Given the description of an element on the screen output the (x, y) to click on. 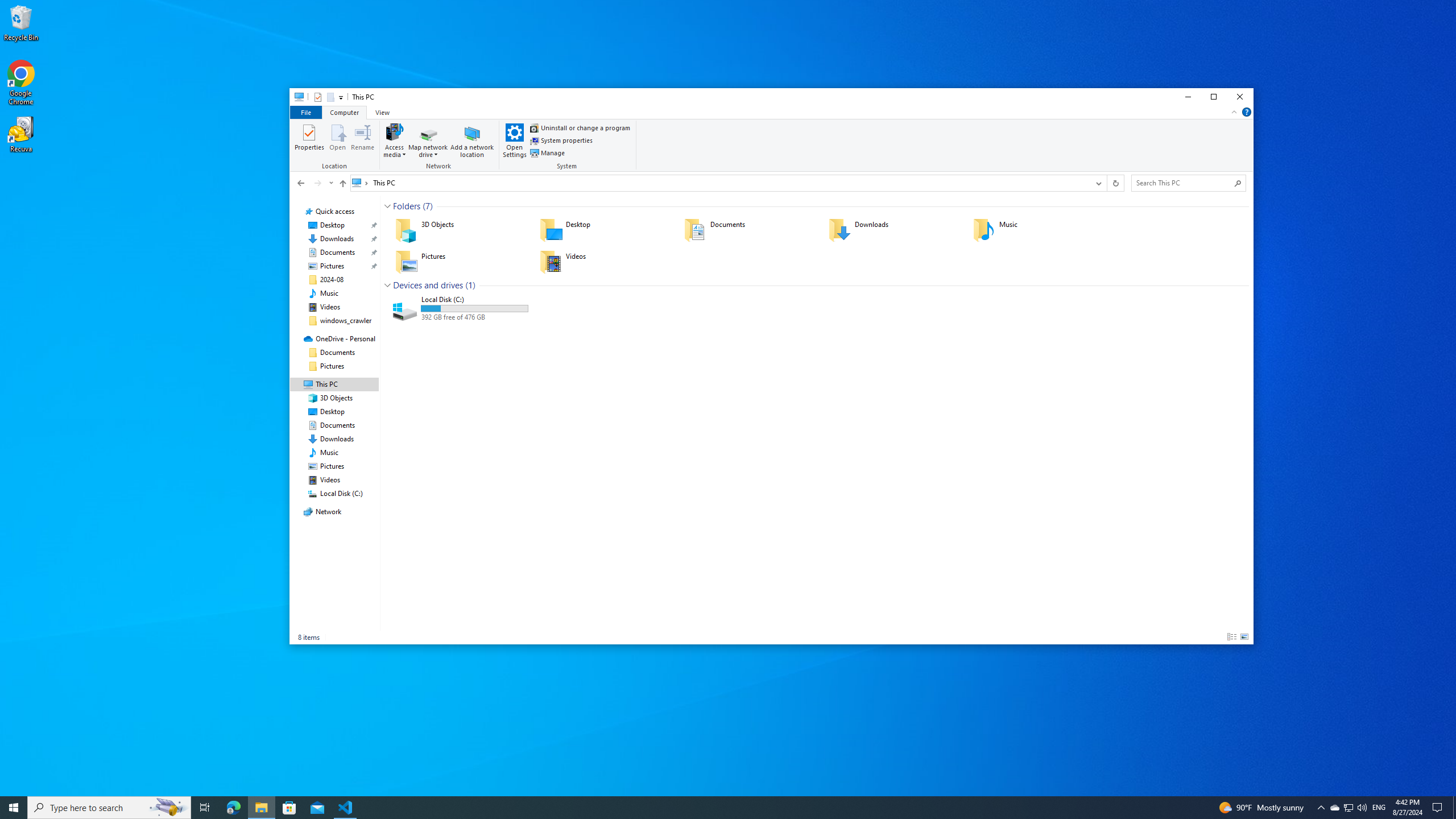
File Explorer - 1 running window (261, 807)
Pictures (459, 261)
windows_crawler (345, 320)
Recent locations (330, 182)
Previous Locations (1097, 182)
Location (336, 145)
Forward (Alt + Right Arrow) (317, 182)
Space used (474, 308)
Properties (310, 140)
Up band toolbar (342, 184)
Downloads (892, 229)
Name (474, 299)
3D Objects (459, 229)
View (381, 111)
Desktop (603, 229)
